Given the description of an element on the screen output the (x, y) to click on. 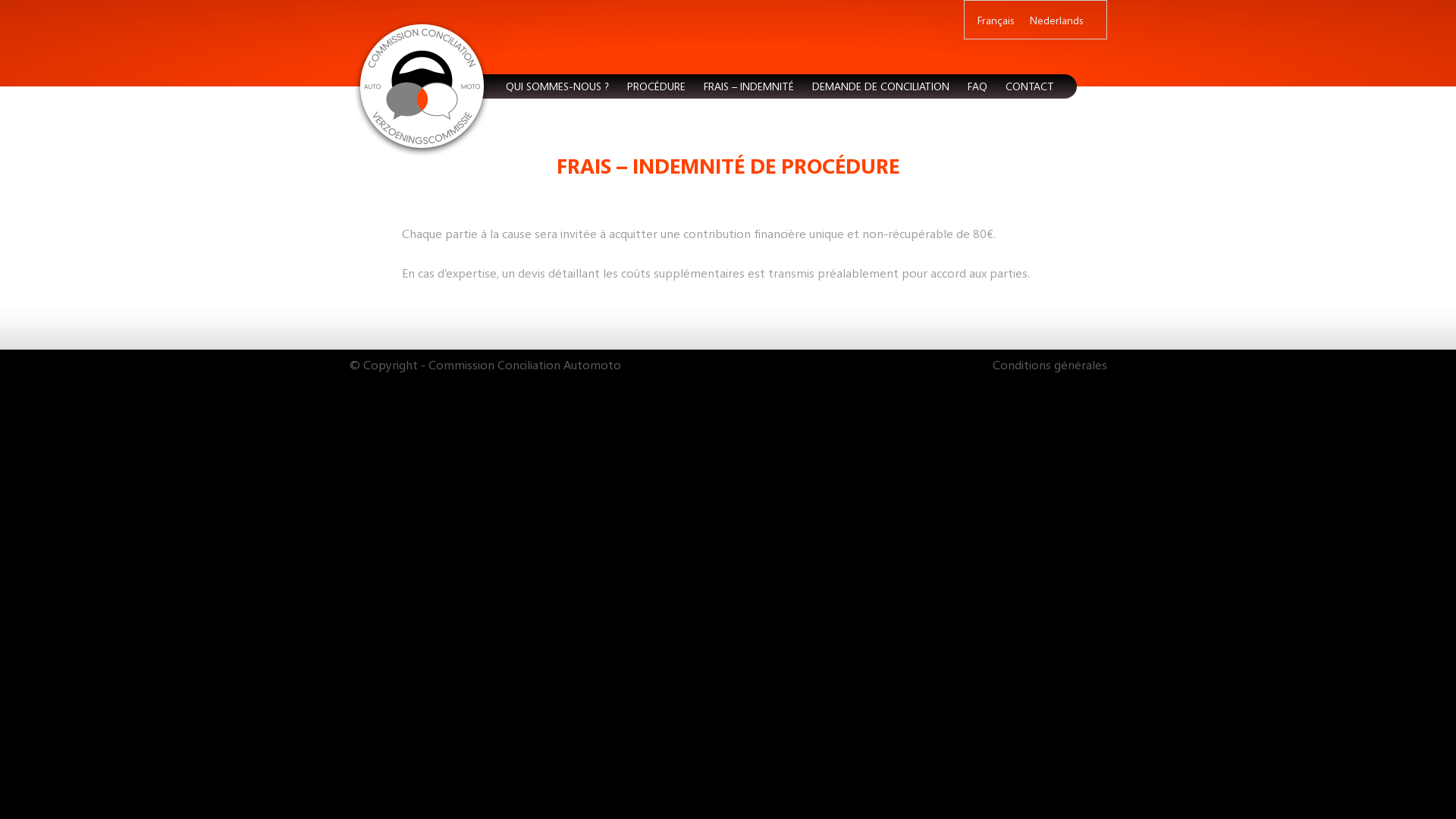
DEMANDE DE CONCILIATION Element type: text (880, 86)
Nederlands Element type: text (1056, 19)
CONTACT Element type: text (1029, 86)
QUI SOMMES-NOUS ? Element type: text (557, 86)
FAQ Element type: text (977, 86)
